Given the description of an element on the screen output the (x, y) to click on. 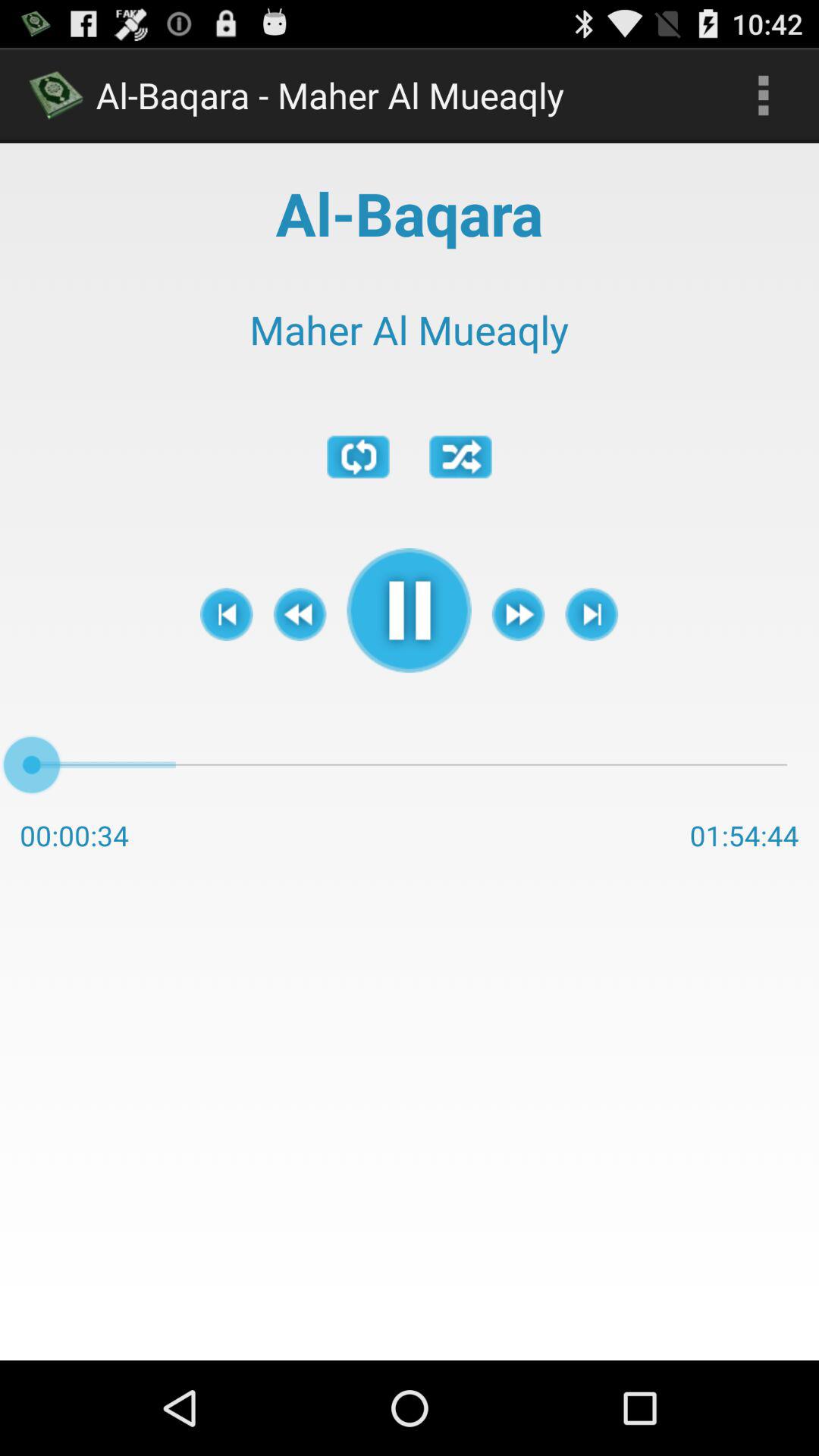
choose icon to the right of al baqara maher (763, 95)
